Given the description of an element on the screen output the (x, y) to click on. 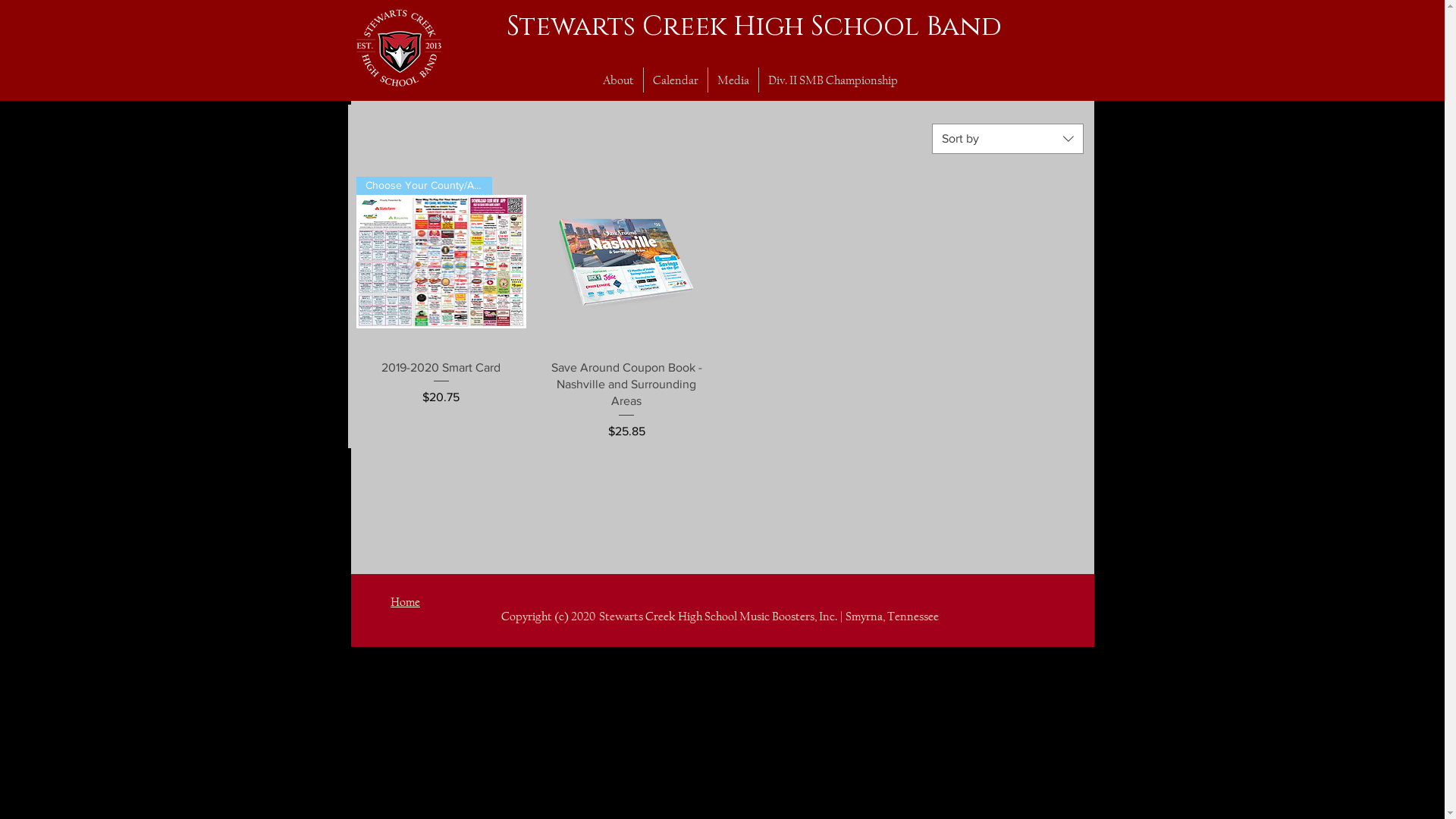
Home Element type: text (405, 601)
Div. II SMB Championship Element type: text (832, 79)
Calendar Element type: text (675, 79)
Choose Your County/Area Element type: text (441, 261)
Sort by Element type: text (1006, 138)
Media Element type: text (733, 79)
2019-2020 Smart Card
Price
$20.75 Element type: text (441, 399)
